Given the description of an element on the screen output the (x, y) to click on. 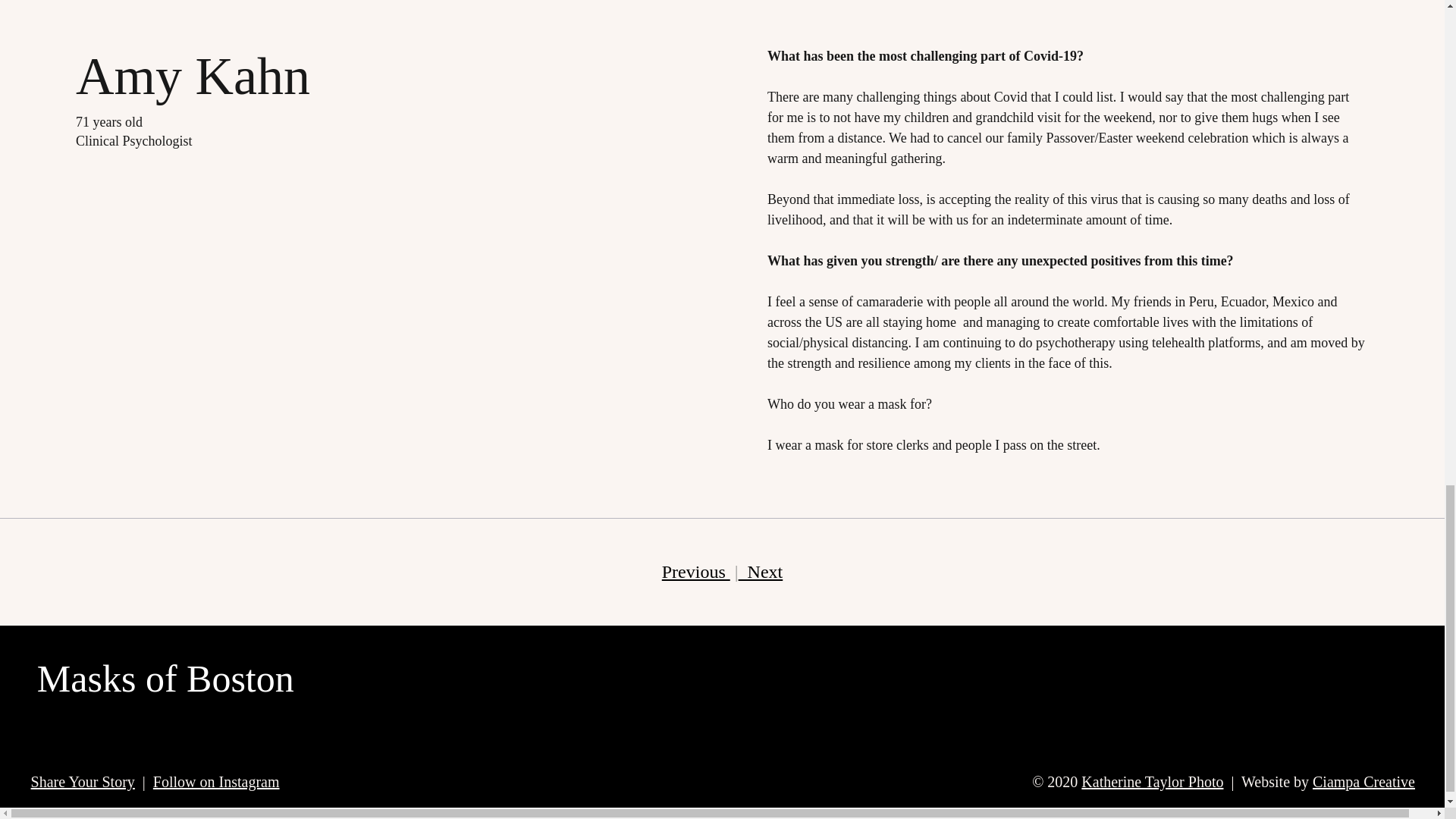
  Next (760, 571)
Previous  (696, 571)
Follow on Instagram (215, 781)
Share Your Story (82, 781)
Ciampa Creative (1364, 781)
Katherine Taylor Photo (1152, 781)
